Given the description of an element on the screen output the (x, y) to click on. 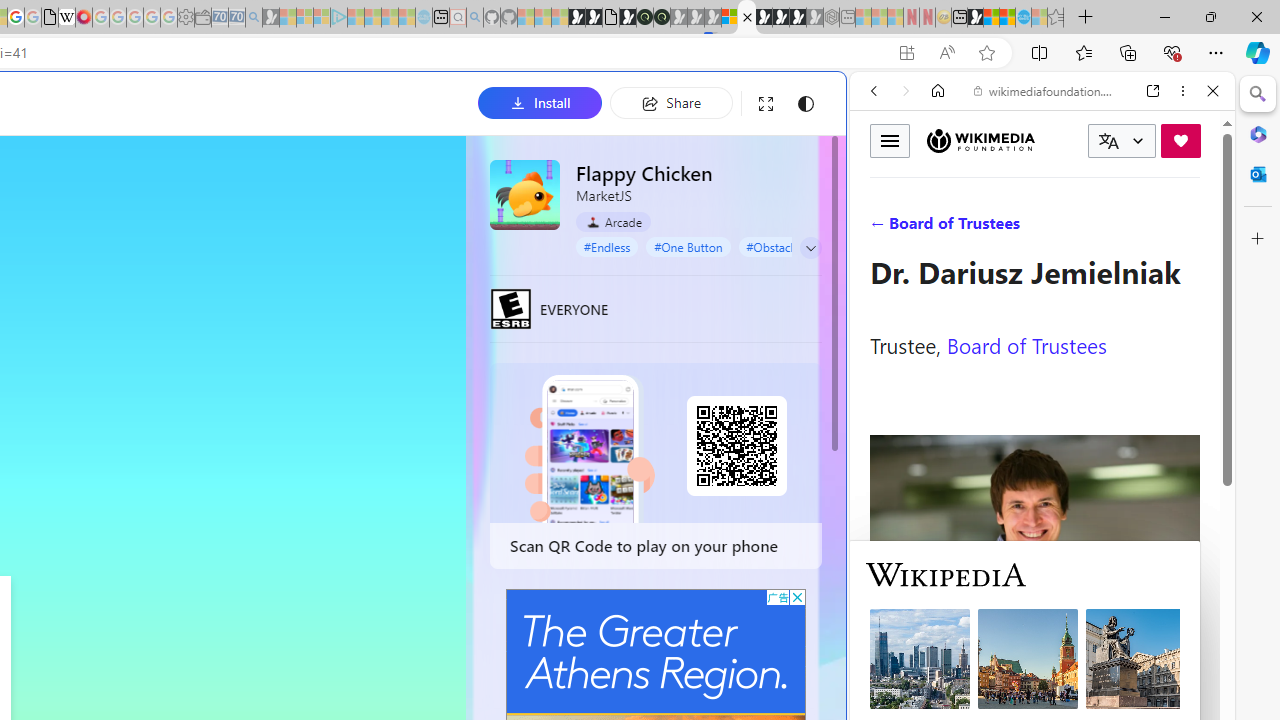
#One Button (688, 246)
Full screen (765, 103)
Board of Trustees (1026, 344)
AutomationID: cbb (797, 596)
Wikimedia Foundation (980, 140)
Close Outlook pane (1258, 174)
Search Filter, WEB (882, 228)
App available. Install Flappy Chicken (906, 53)
Install (540, 102)
Wikimedia Foundation (980, 141)
